Given the description of an element on the screen output the (x, y) to click on. 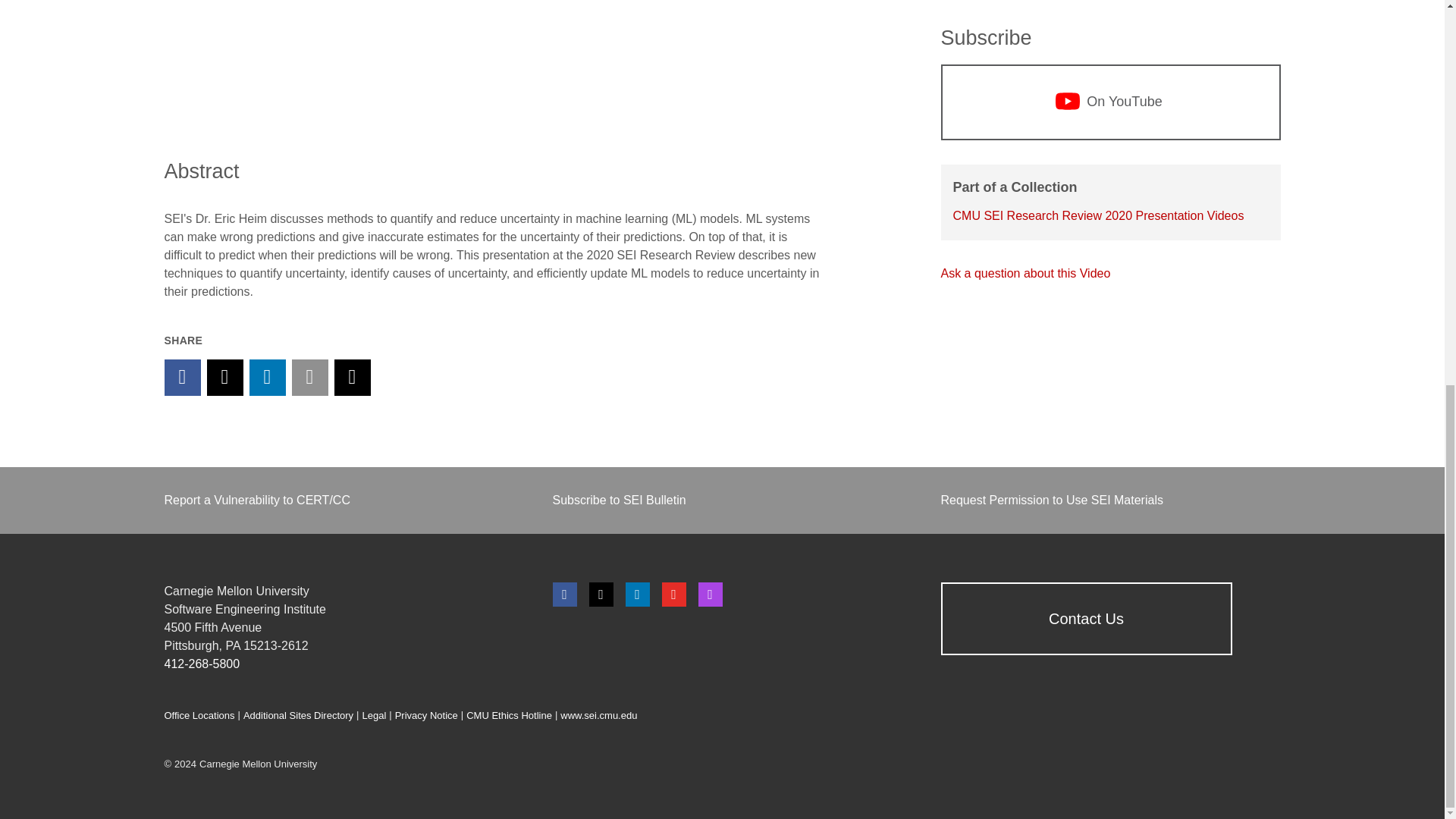
Visit the SEI on LinkedIn (636, 594)
Share on LinkedIn (266, 377)
Share on X (224, 377)
Visit the SEI on Facebook (563, 594)
Visit the SEI on X (600, 594)
Visit the SEI on YouTube (673, 594)
Visit the SEI on Apple Podcasts (709, 594)
Print this article (351, 377)
Share via Email (309, 377)
Share on Facebook (181, 377)
